Given the description of an element on the screen output the (x, y) to click on. 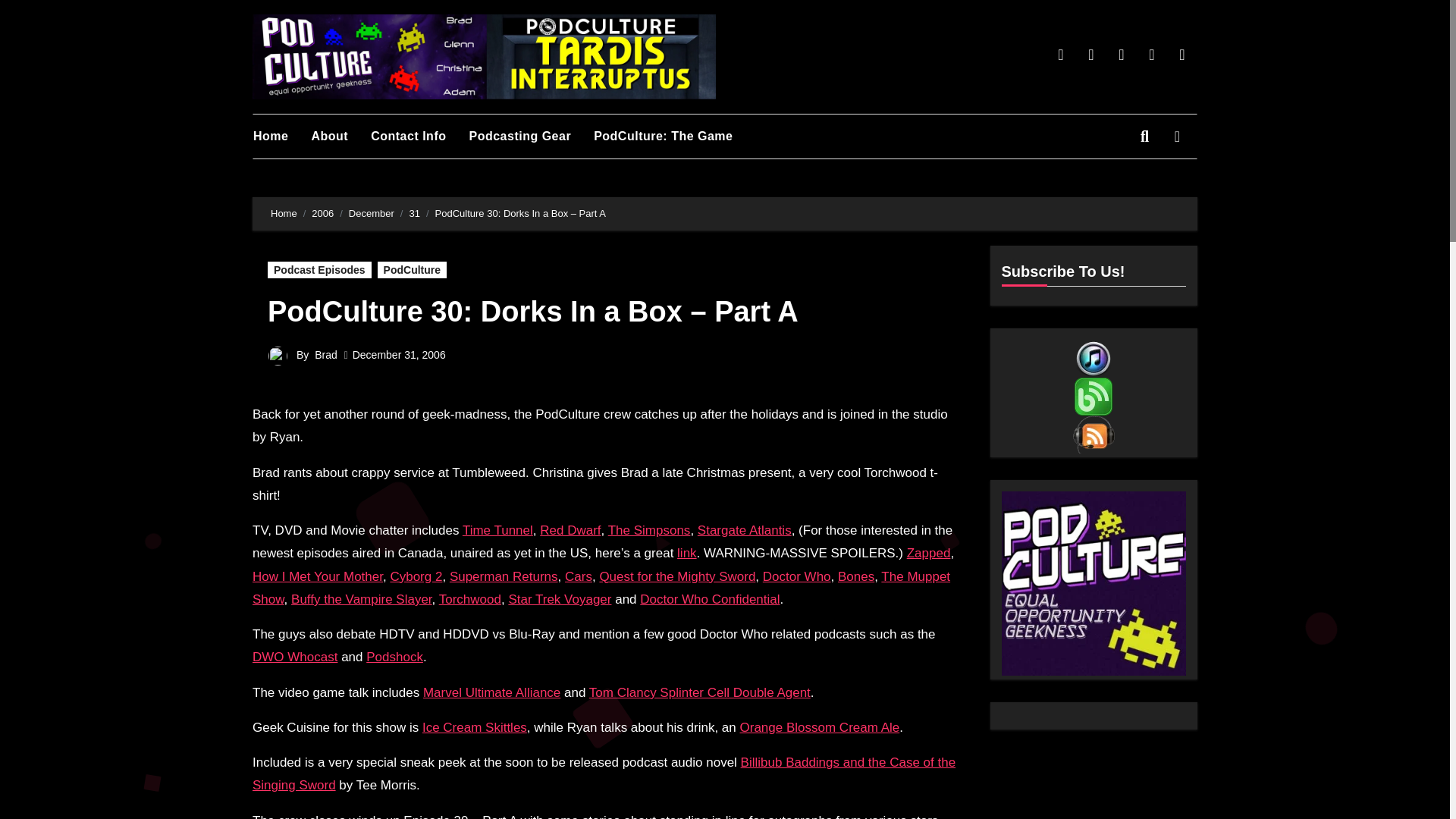
Cyborg 2 (416, 576)
Stargate Atlantis (744, 530)
Zapped (928, 553)
Time Tunnel (497, 530)
PodCulture: The Game (674, 136)
Cars (578, 576)
Brad (325, 354)
PodCulture (411, 269)
link (687, 553)
2006 (322, 213)
Home (283, 213)
Red Dwarf (569, 530)
Superman Returns (503, 576)
The Simpsons (649, 530)
How I Met Your Mother (316, 576)
